Given the description of an element on the screen output the (x, y) to click on. 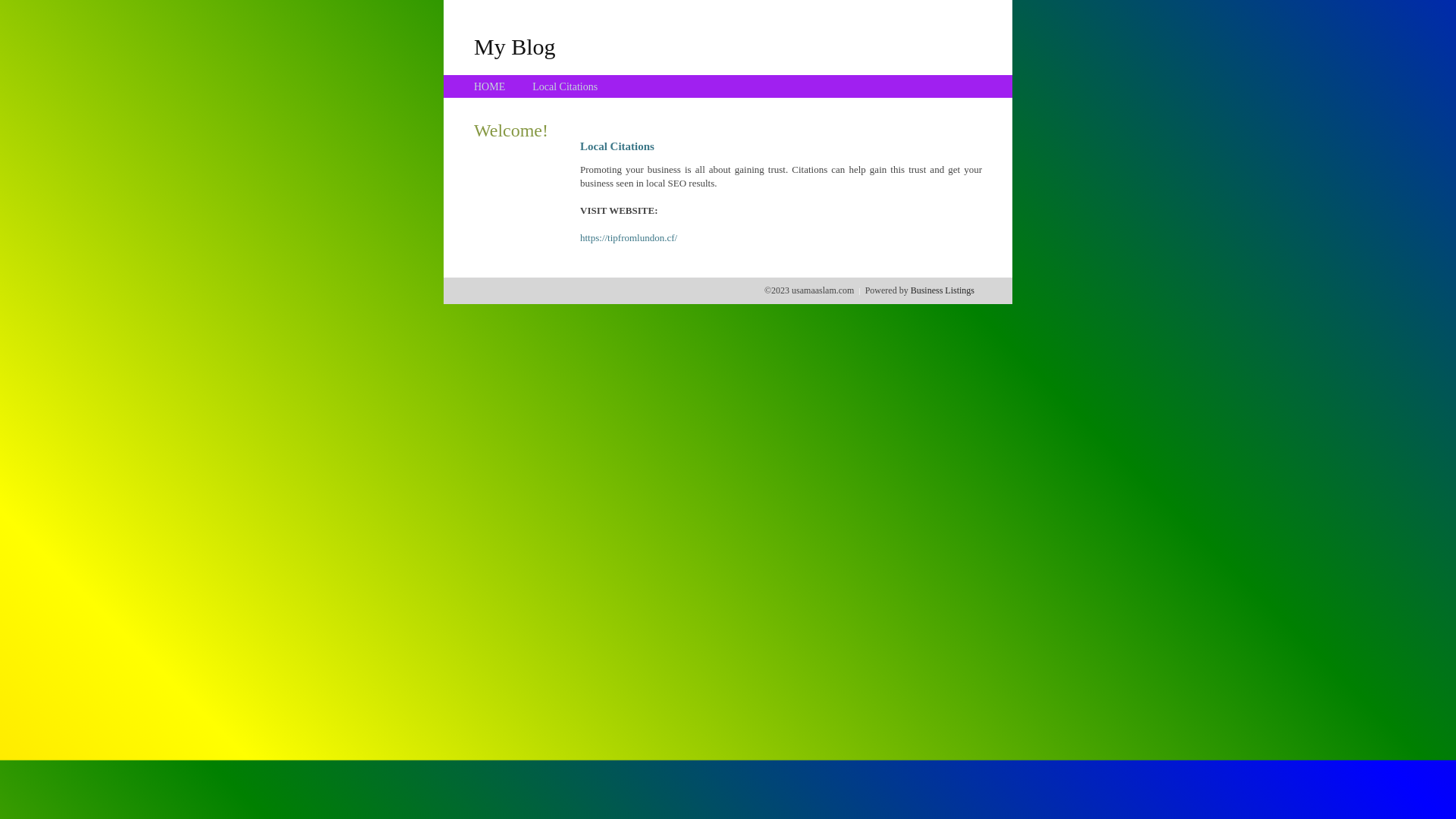
HOME Element type: text (489, 86)
Local Citations Element type: text (564, 86)
Business Listings Element type: text (942, 290)
https://tipfromlundon.cf/ Element type: text (628, 237)
My Blog Element type: text (514, 46)
